Given the description of an element on the screen output the (x, y) to click on. 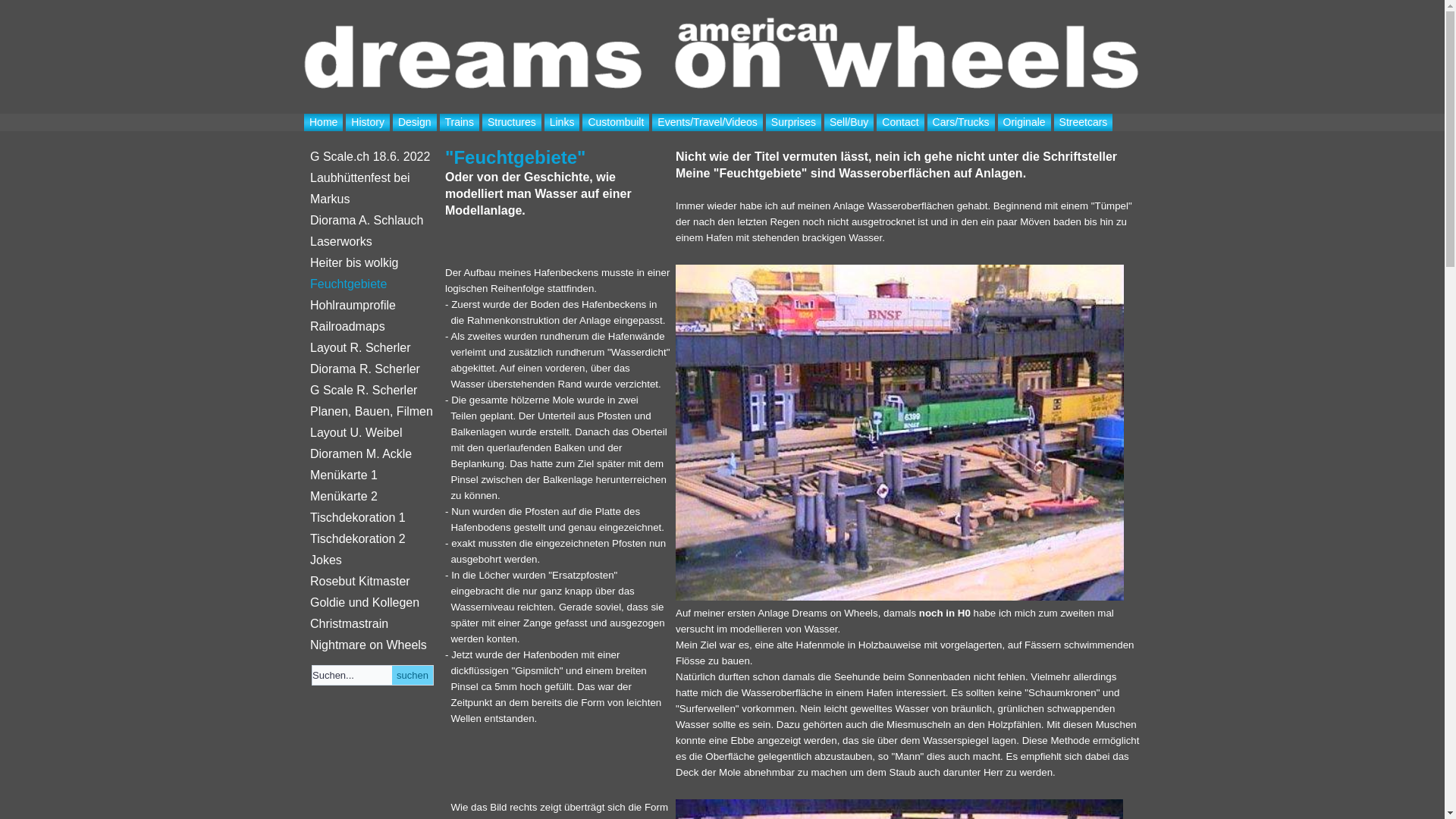
Hohlraumprofile Element type: text (372, 305)
Design Element type: text (414, 122)
Diorama R. Scherler Element type: text (372, 368)
suchen Element type: text (412, 674)
Heiter bis wolkig Element type: text (372, 262)
Surprises Element type: text (793, 122)
Christmastrain Element type: text (372, 623)
Feuchtgebiete Element type: text (372, 283)
Goldie und Kollegen Element type: text (372, 602)
Tischdekoration 2 Element type: text (372, 538)
Layout U. Weibel Element type: text (372, 432)
Dioramen M. Ackle Element type: text (372, 453)
Trains Element type: text (459, 122)
G Scale R. Scherler Element type: text (372, 390)
History Element type: text (367, 122)
Links Element type: text (562, 122)
Layout R. Scherler Element type: text (372, 347)
Rosebut Kitmaster Element type: text (372, 581)
Laserworks Element type: text (372, 241)
Diorama A. Schlauch Element type: text (372, 220)
Originale Element type: text (1024, 122)
Sell/Buy Element type: text (848, 122)
Contact Element type: text (899, 122)
Structures Element type: text (511, 122)
Cars/Trucks Element type: text (960, 122)
Custombuilt Element type: text (615, 122)
Nightmare on Wheels Element type: text (372, 644)
Tischdekoration 1 Element type: text (372, 517)
Jokes Element type: text (372, 560)
Railroadmaps Element type: text (372, 326)
Home Element type: text (323, 122)
G Scale.ch 18.6. 2022 Element type: text (372, 156)
Events/Travel/Videos Element type: text (707, 122)
Streetcars Element type: text (1083, 122)
Planen, Bauen, Filmen Element type: text (372, 411)
